Given the description of an element on the screen output the (x, y) to click on. 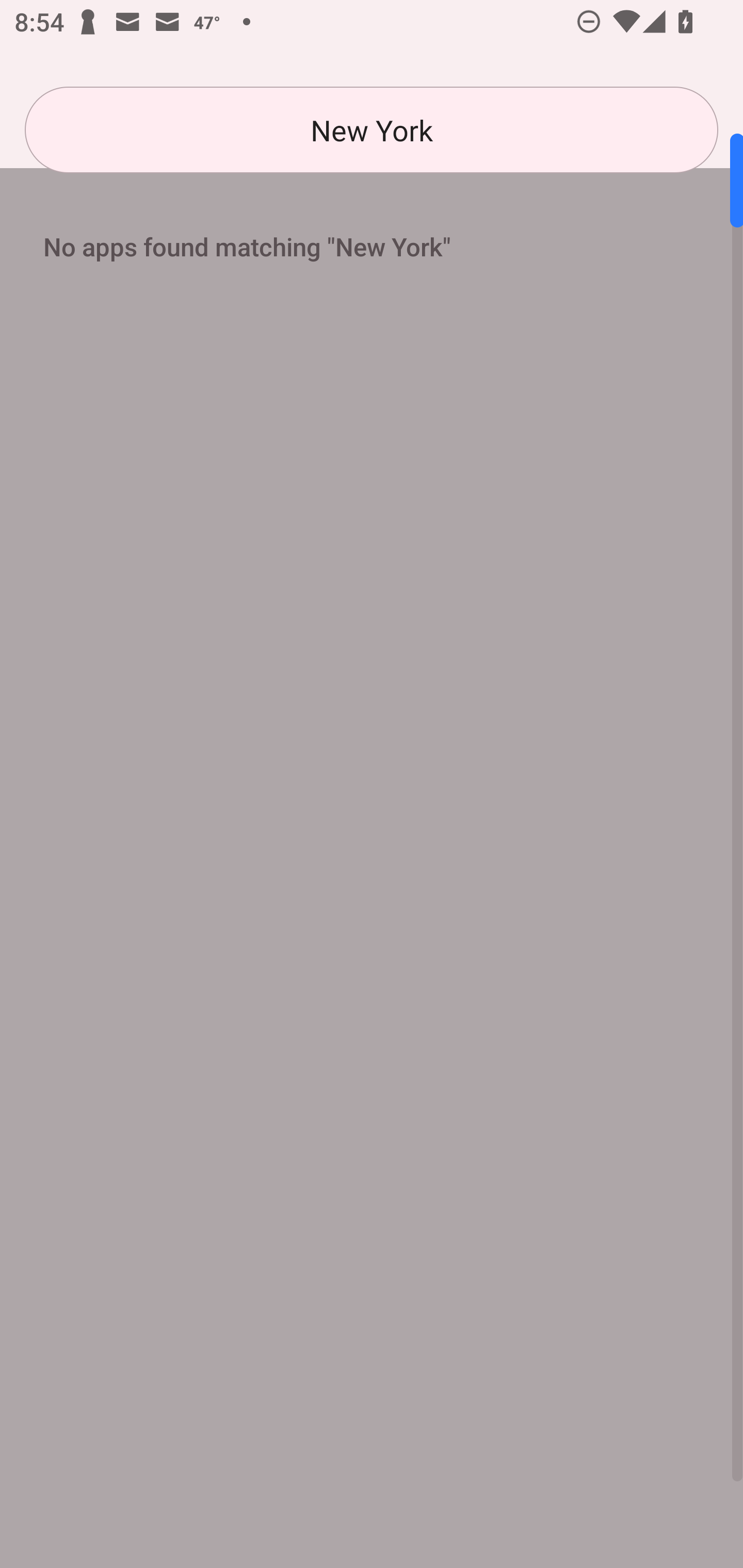
New York (371, 130)
